Given the description of an element on the screen output the (x, y) to click on. 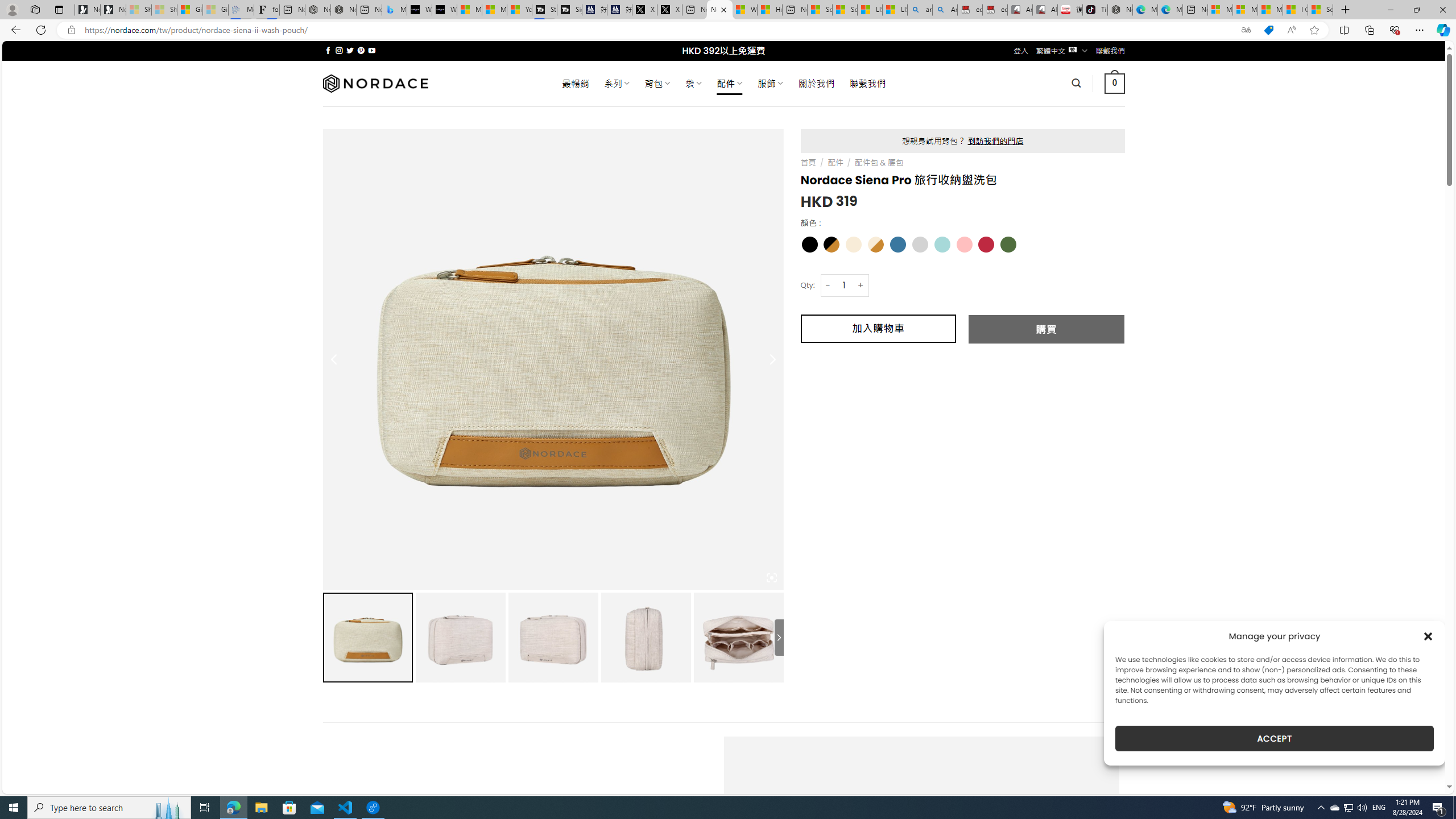
Class: cmplz-close (1428, 636)
+ (861, 284)
I Gained 20 Pounds of Muscle in 30 Days! | Watch (1295, 9)
Follow on Facebook (327, 50)
  0   (1115, 83)
ACCEPT (1274, 738)
